Given the description of an element on the screen output the (x, y) to click on. 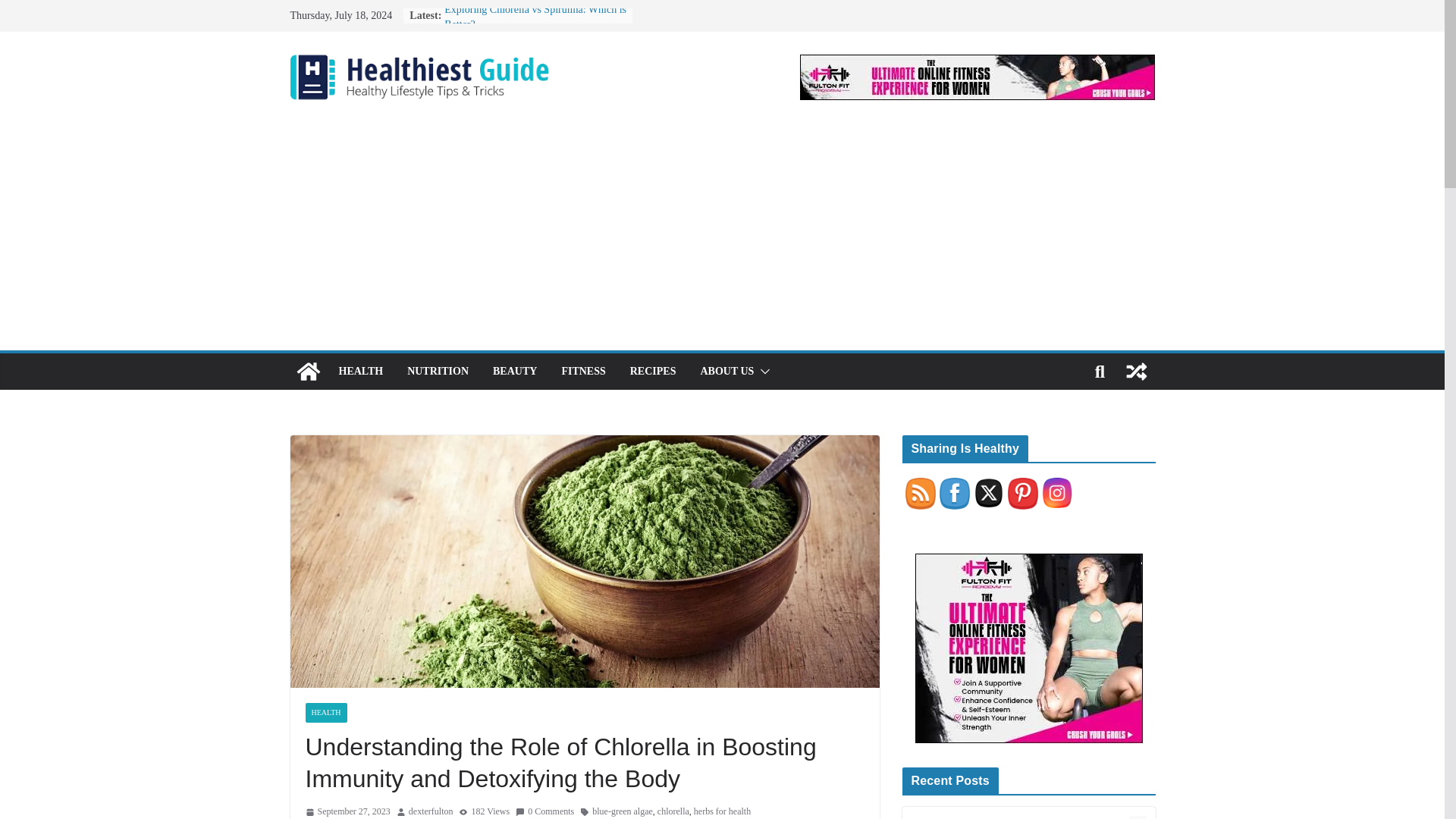
chlorella (673, 811)
dexterfulton (430, 811)
Healthiest Guide (307, 370)
dexterfulton (430, 811)
FITNESS (582, 371)
BEAUTY (515, 371)
herbs for health (722, 811)
0 Comments (544, 811)
Exploring Chlorella vs Spirulina: Which is Better? (535, 17)
blue-green algae (622, 811)
ABOUT US (727, 371)
8:32 pm (347, 811)
View a random post (1136, 370)
HEALTH (325, 712)
